Given the description of an element on the screen output the (x, y) to click on. 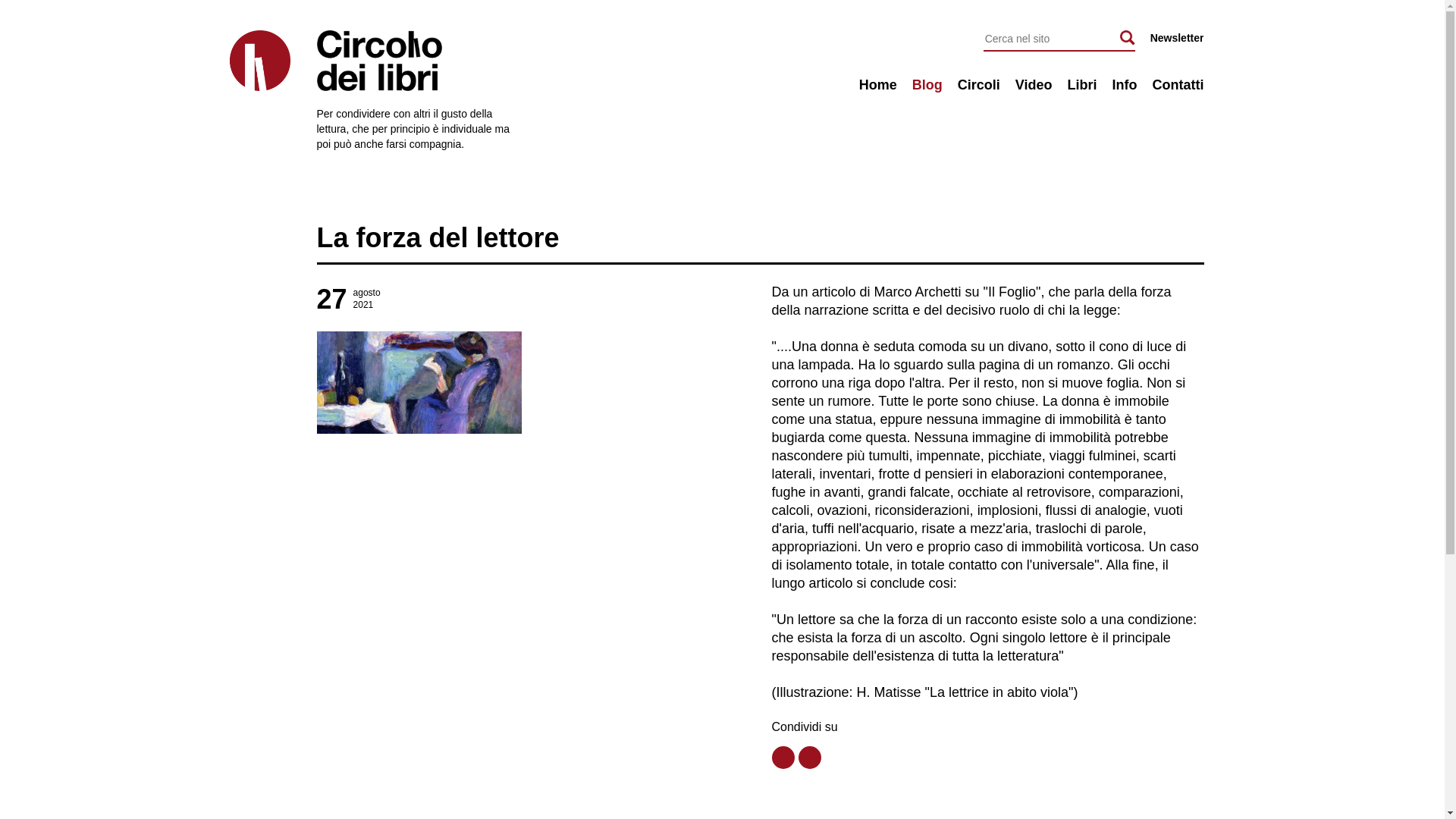
Newsletter Element type: text (1177, 37)
Circolo dei Libri Element type: hover (259, 60)
Circolo dei Libri Element type: hover (456, 60)
Video Element type: text (1033, 84)
Blog Element type: text (927, 84)
Contatti Element type: text (1177, 84)
Cerca Element type: text (1127, 37)
Home Element type: text (878, 84)
